Given the description of an element on the screen output the (x, y) to click on. 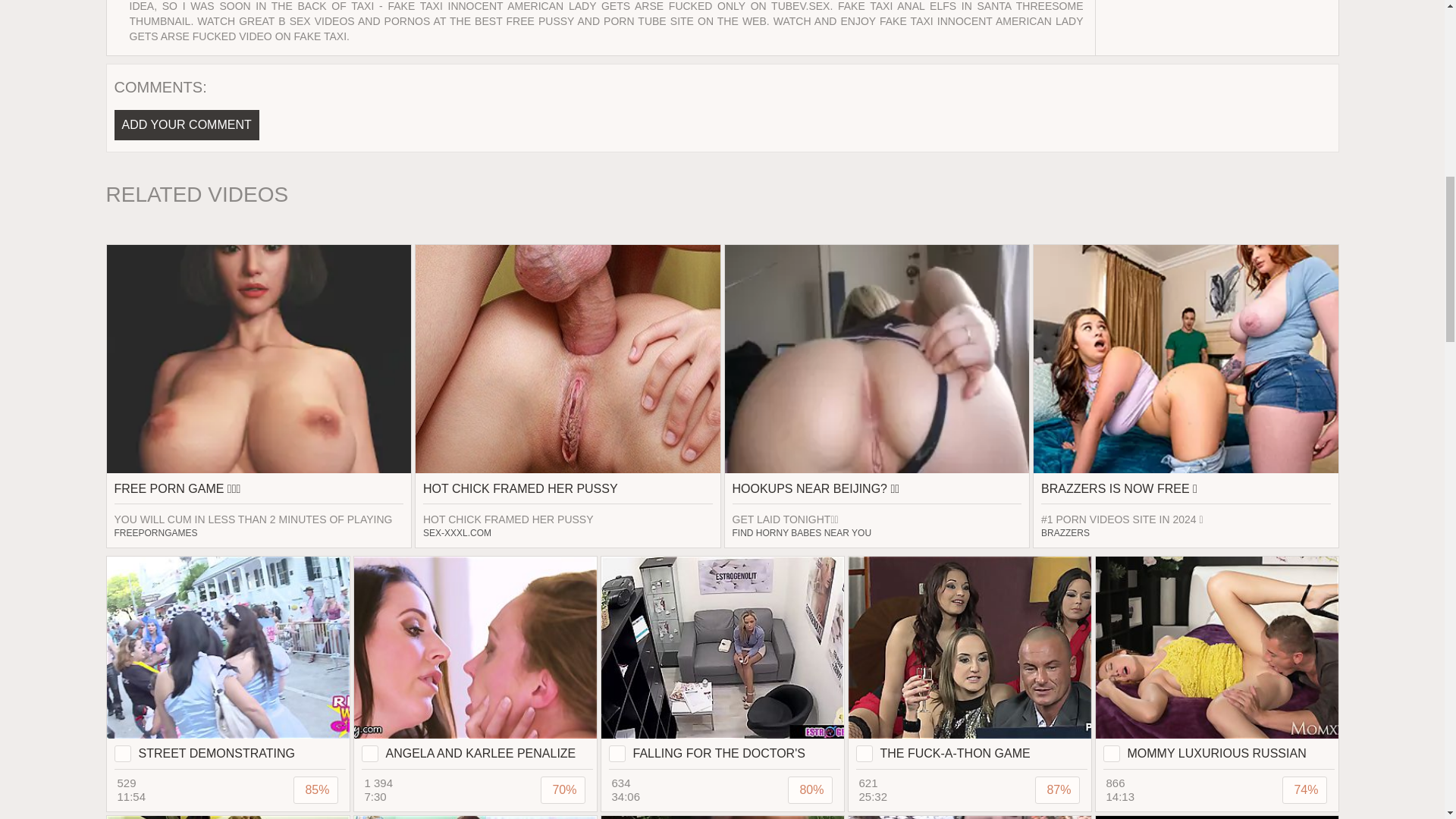
ANGELA AND KARLEE PENALIZE MADDY'S (474, 662)
THE FUCK-A-THON GAME BEFORE CHRISTMAS (968, 662)
MOMMY LUXURIOUS RUSSIAN GINGER-HAIRED (1216, 662)
FALLING FOR THE DOCTOR'S MEAT INSERTION (721, 662)
A GAL KNOWS - DAME ON NYMPH DILDO JOY (1216, 817)
FAUX POLYCLINIC DIRTY MEDIC GIVES (474, 817)
INSATIABLE DARK-HAIRED PUMMELED IN THE (968, 817)
STREET DEMONSTRATING STUNNERS FANTASY (227, 662)
LEDERHOSEN GROUPSEX FUCKY-FUCKY IN (721, 817)
